Given the description of an element on the screen output the (x, y) to click on. 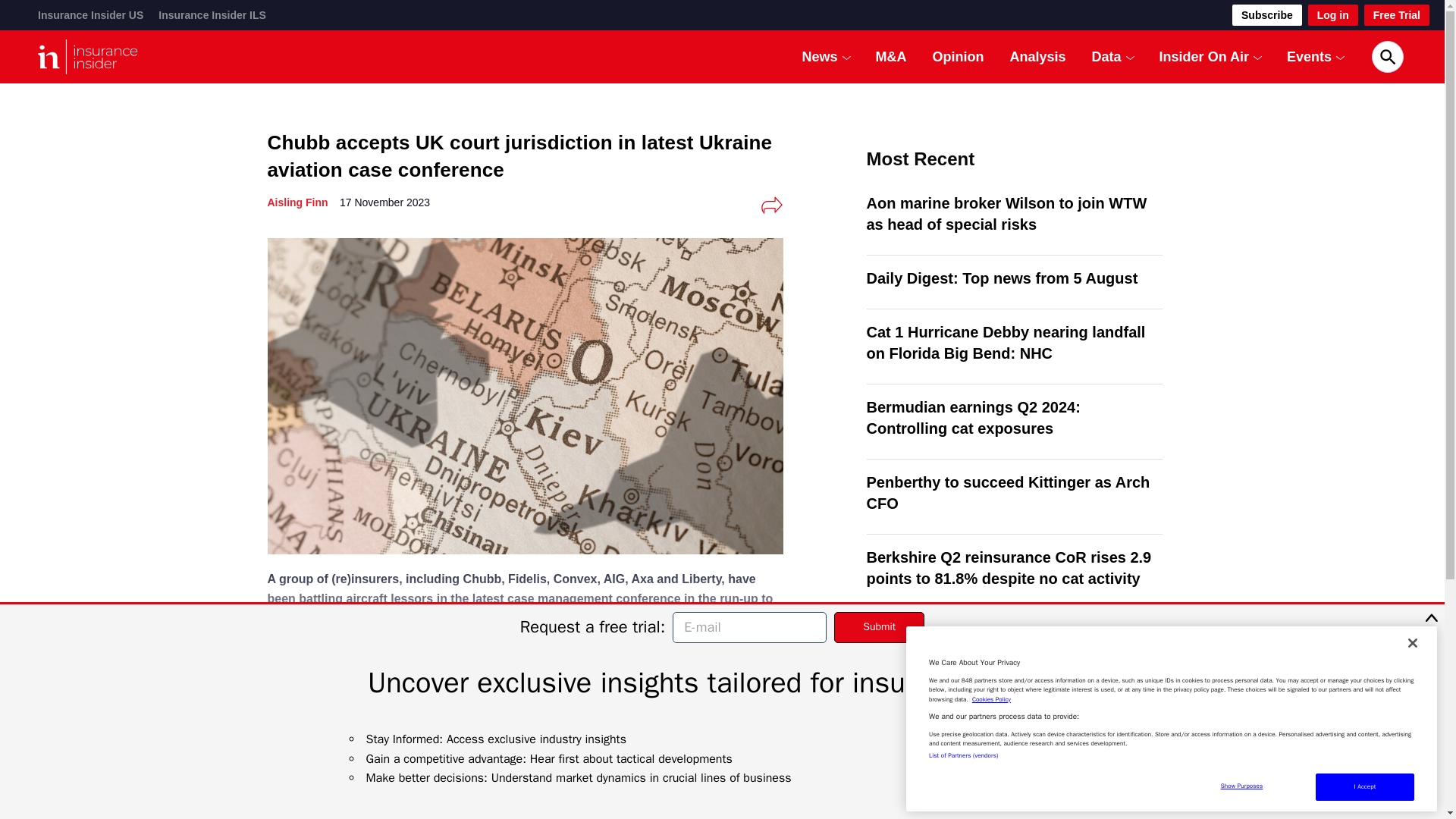
Opinion (958, 56)
Data (1106, 56)
News (820, 56)
Submit (879, 626)
Share (771, 205)
Insurance Insider ILS (212, 14)
Log in (1332, 14)
Analysis (1037, 56)
Subscribe (1266, 14)
Free Trial (1396, 14)
Insurance Insider US (89, 14)
